Given the description of an element on the screen output the (x, y) to click on. 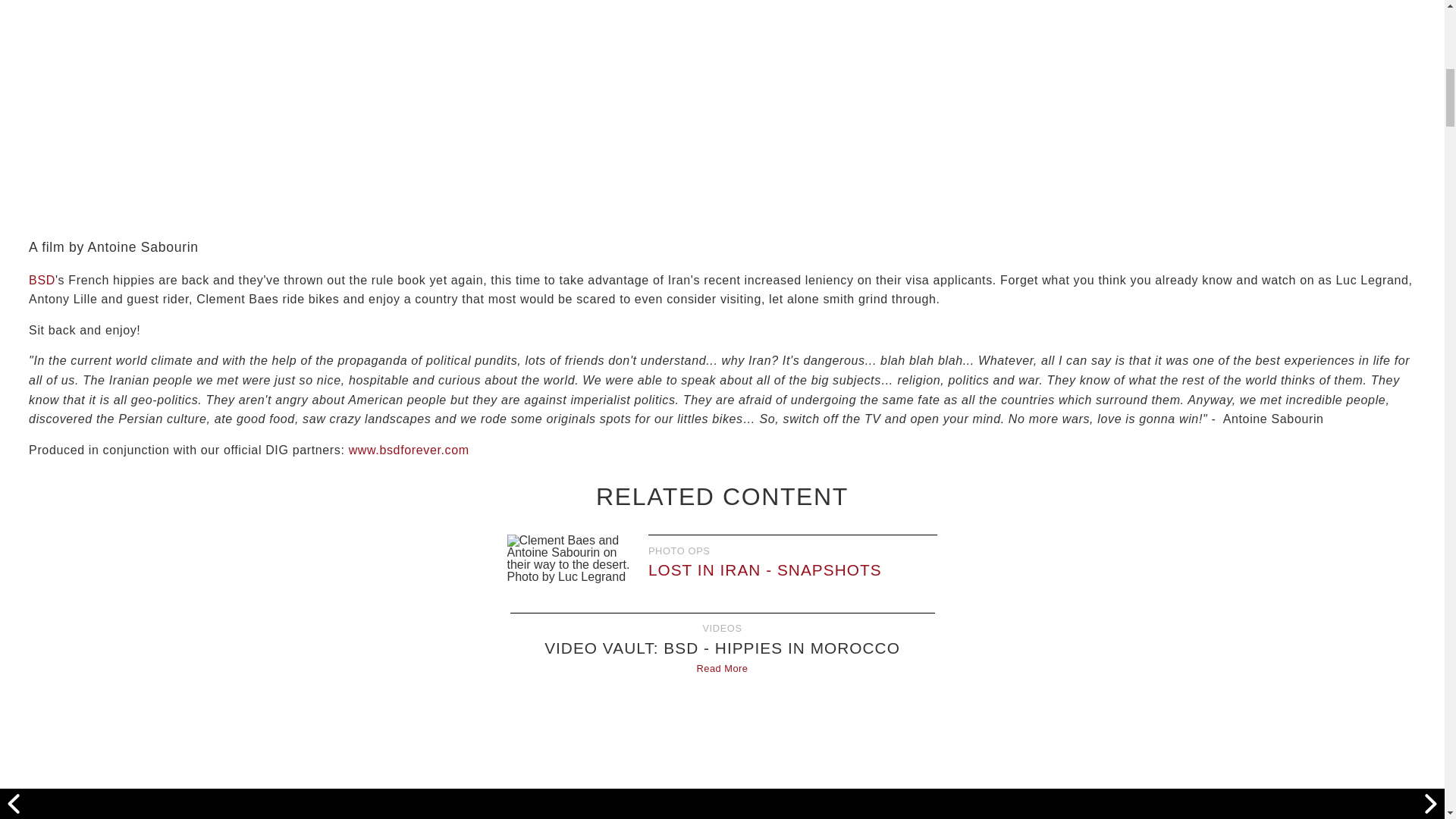
www.bsdforever.com (408, 449)
YouTube video player (721, 752)
LOST IN IRAN - SNAPSHOTS (764, 569)
BSD (42, 279)
Read More (722, 668)
